Given the description of an element on the screen output the (x, y) to click on. 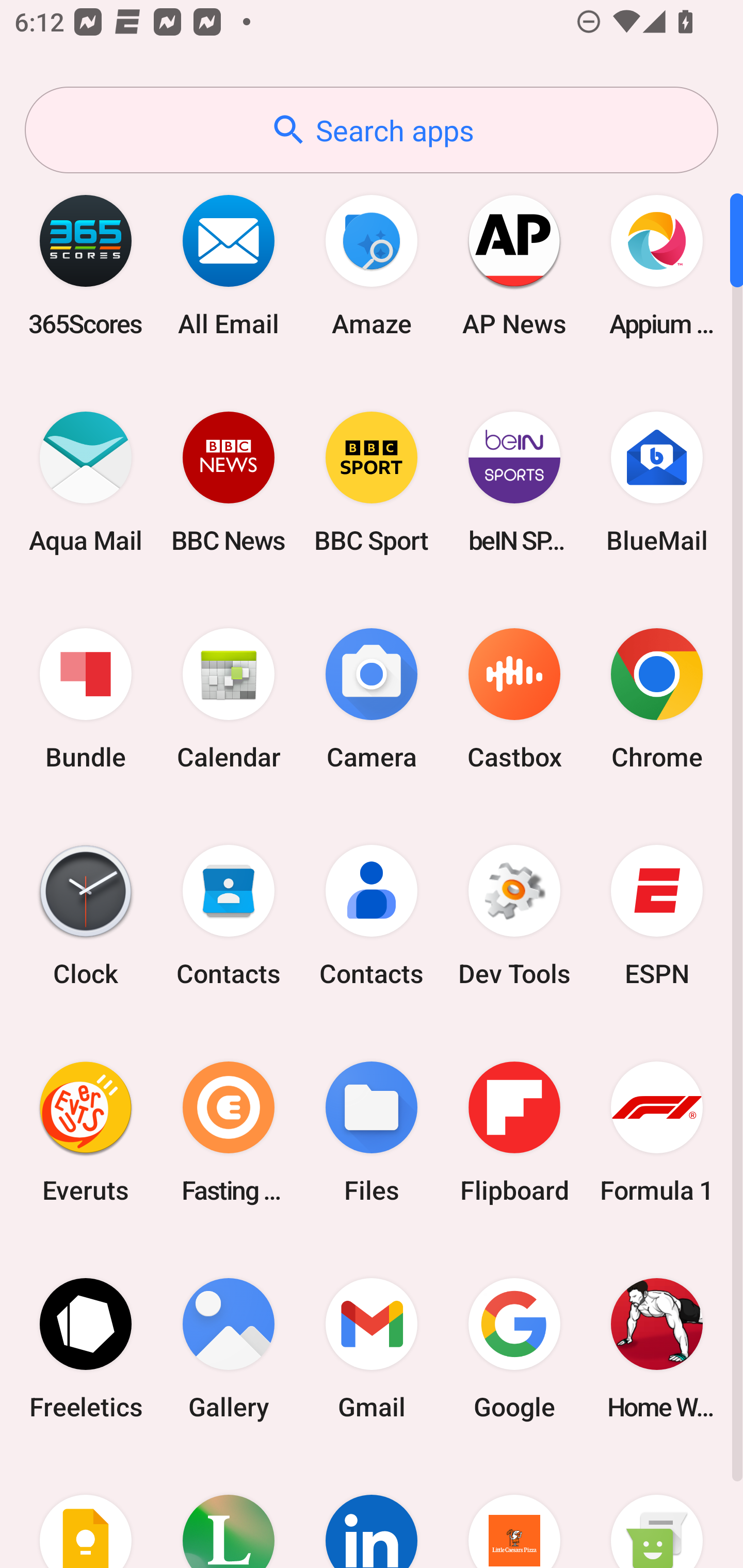
  Search apps (371, 130)
365Scores (85, 264)
All Email (228, 264)
Amaze (371, 264)
AP News (514, 264)
Appium Settings (656, 264)
Aqua Mail (85, 482)
BBC News (228, 482)
BBC Sport (371, 482)
beIN SPORTS (514, 482)
BlueMail (656, 482)
Bundle (85, 699)
Calendar (228, 699)
Camera (371, 699)
Castbox (514, 699)
Chrome (656, 699)
Clock (85, 915)
Contacts (228, 915)
Contacts (371, 915)
Dev Tools (514, 915)
ESPN (656, 915)
Everuts (85, 1131)
Fasting Coach (228, 1131)
Files (371, 1131)
Flipboard (514, 1131)
Formula 1 (656, 1131)
Freeletics (85, 1348)
Gallery (228, 1348)
Gmail (371, 1348)
Google (514, 1348)
Home Workout (656, 1348)
